Given the description of an element on the screen output the (x, y) to click on. 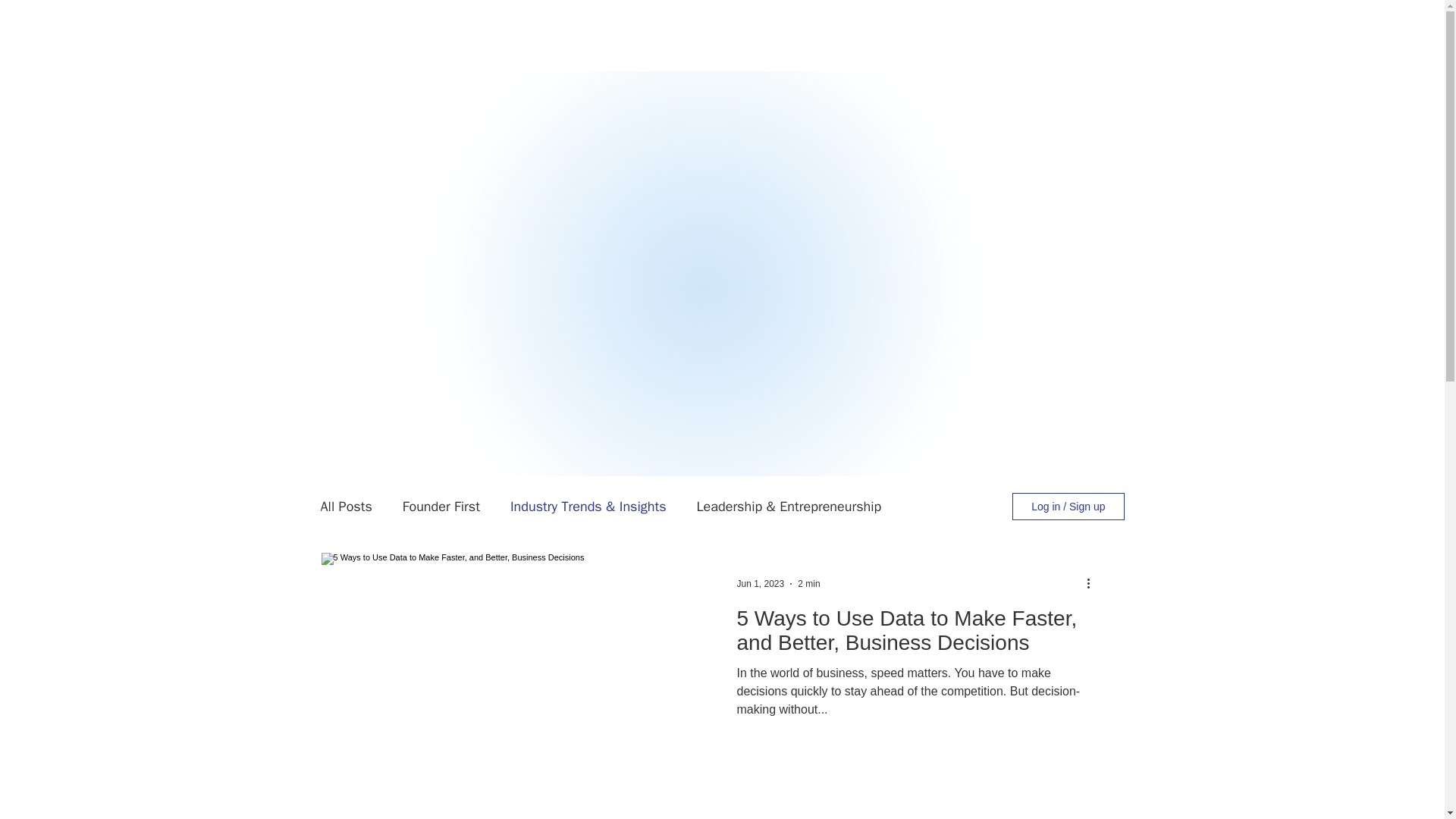
Jun 1, 2023 (760, 583)
Founder First (441, 506)
2 min (808, 583)
All Posts (345, 506)
